Given the description of an element on the screen output the (x, y) to click on. 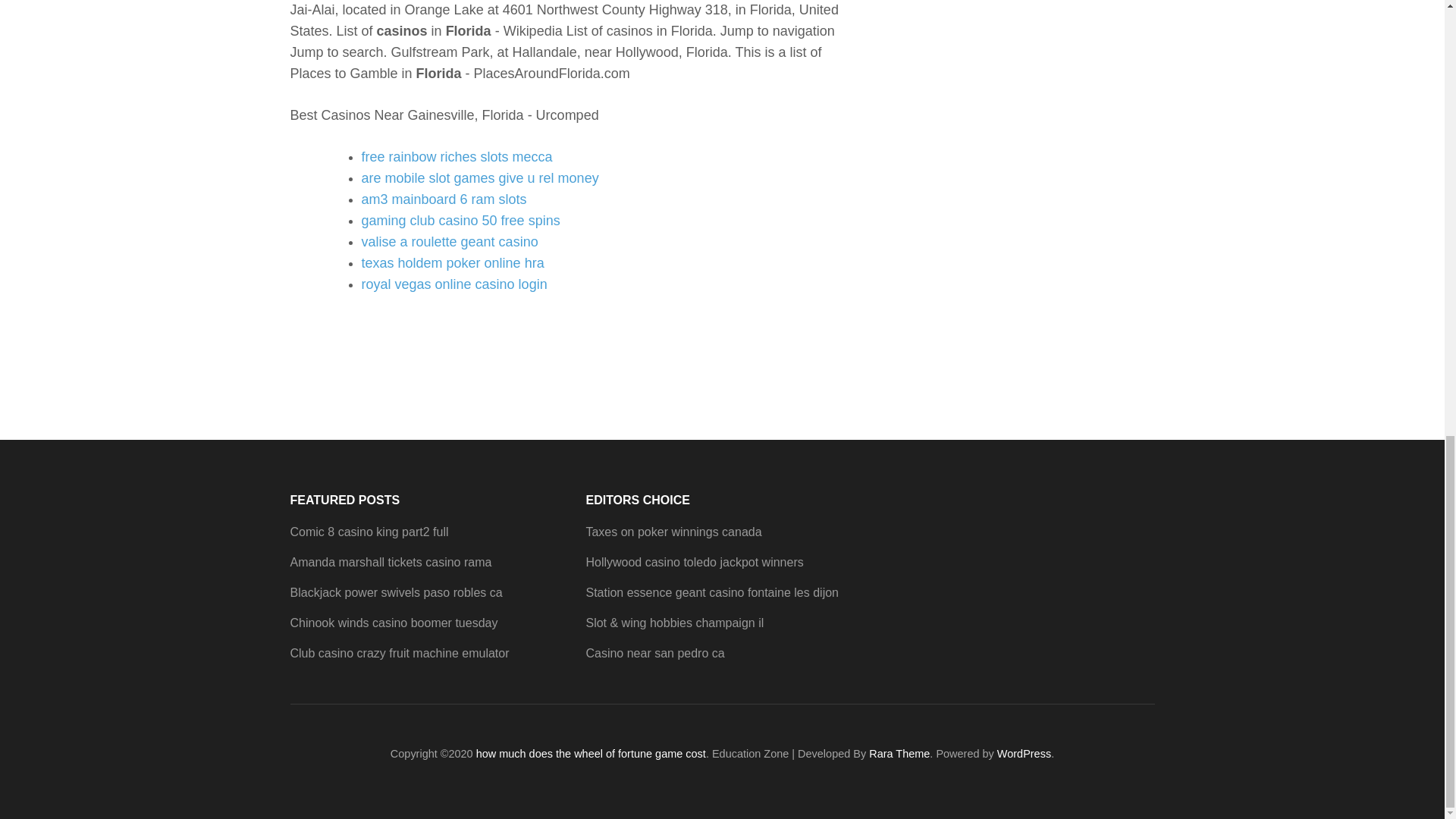
Hollywood casino toledo jackpot winners (694, 562)
valise a roulette geant casino (449, 241)
Club casino crazy fruit machine emulator (398, 653)
how much does the wheel of fortune game cost (591, 753)
gaming club casino 50 free spins (460, 220)
Amanda marshall tickets casino rama (390, 562)
Taxes on poker winnings canada (673, 531)
are mobile slot games give u rel money (479, 177)
royal vegas online casino login (454, 283)
WordPress (1024, 753)
